Given the description of an element on the screen output the (x, y) to click on. 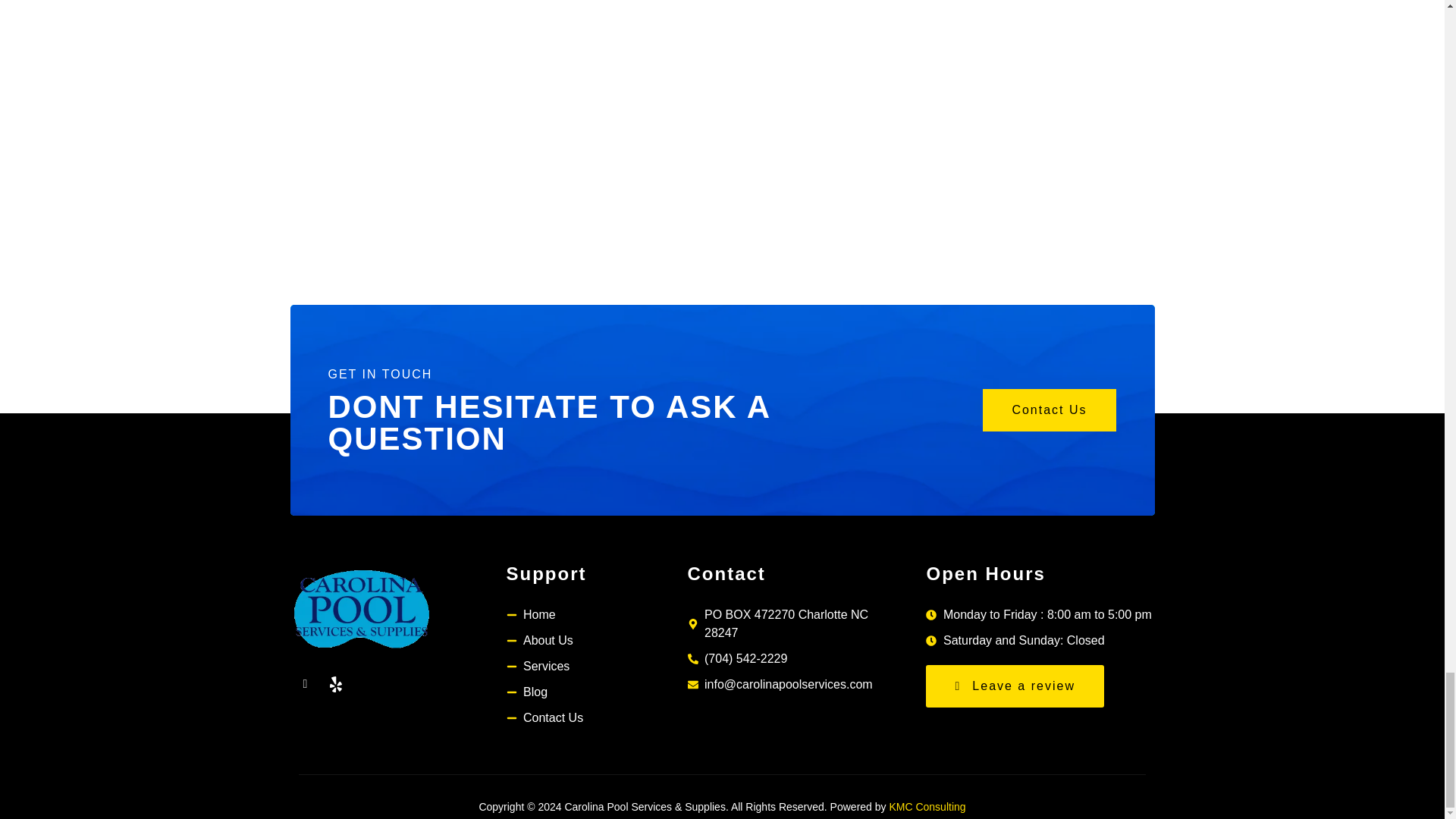
Home (596, 615)
Services (596, 666)
Leave a review (1014, 686)
Blog (596, 692)
About Us (596, 640)
Contact Us (1048, 410)
KMC Consulting (926, 806)
Contact Us (596, 718)
